Given the description of an element on the screen output the (x, y) to click on. 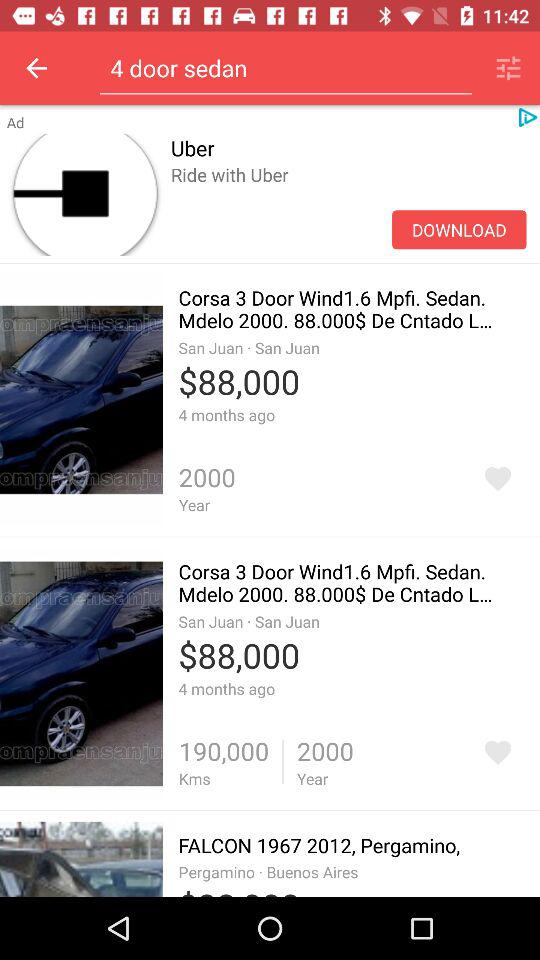
click icon above the ad item (36, 68)
